Given the description of an element on the screen output the (x, y) to click on. 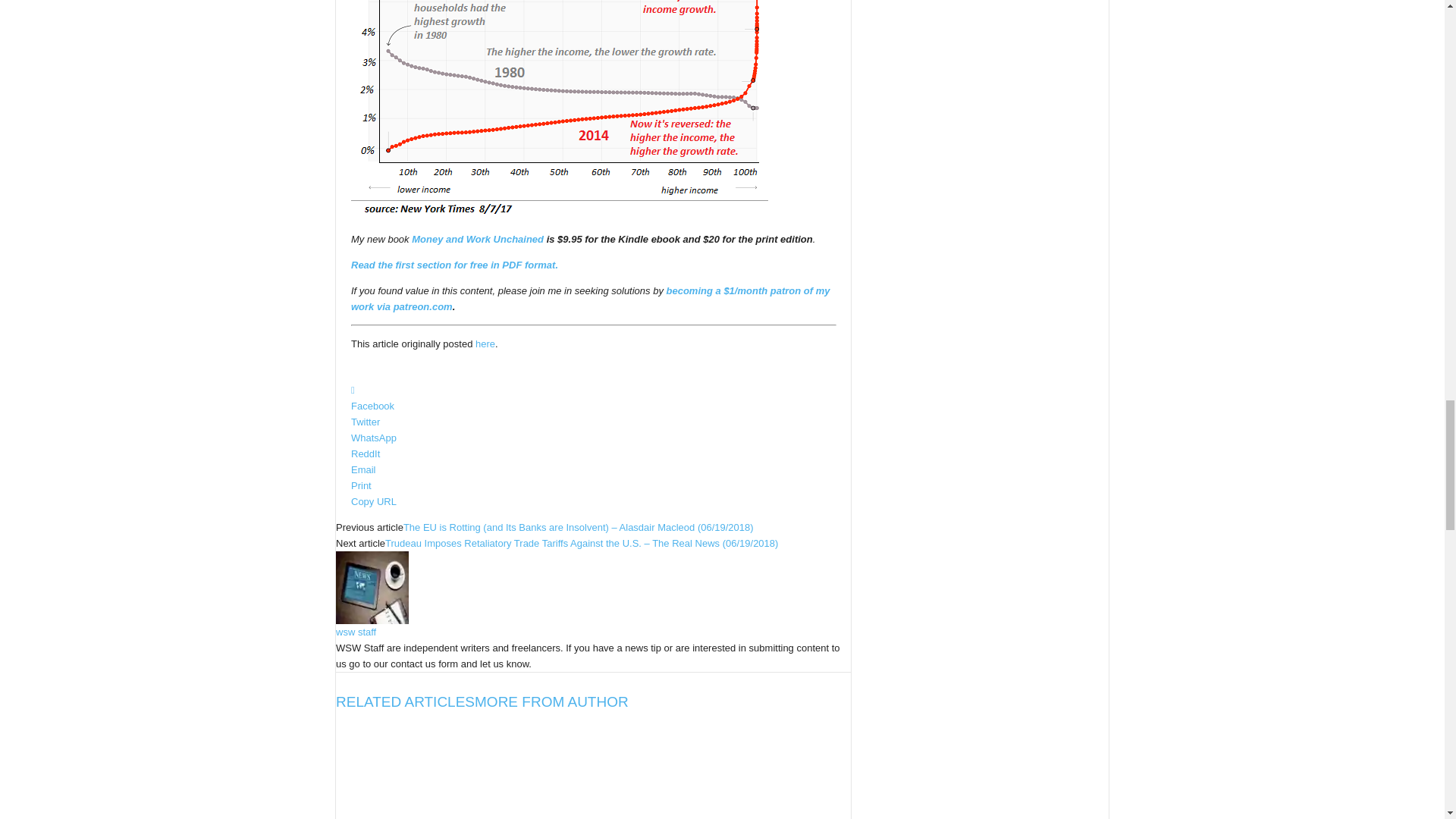
Copy URL (592, 501)
Print (592, 485)
Facebook (592, 398)
ReddIt (592, 453)
Money and Work Unchained (477, 238)
here (485, 343)
Facebook (592, 398)
Twitter (592, 421)
WhatsApp (592, 437)
bottomFacebookLike (390, 369)
Twitter (592, 421)
Email (592, 469)
Read the first section for free in PDF format. (453, 265)
WhatsApp (592, 437)
